Given the description of an element on the screen output the (x, y) to click on. 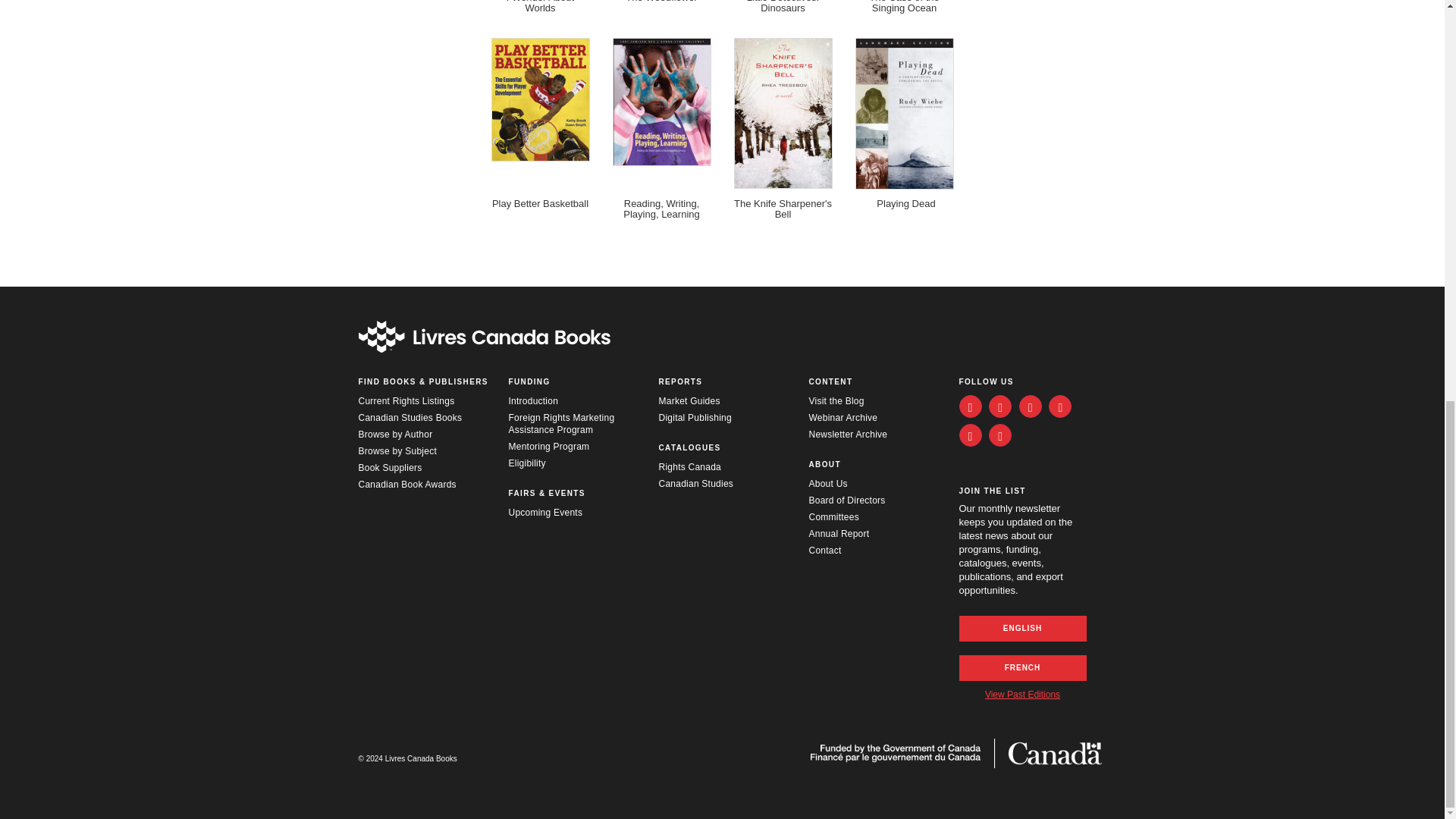
Livres Canada Books (484, 336)
